Given the description of an element on the screen output the (x, y) to click on. 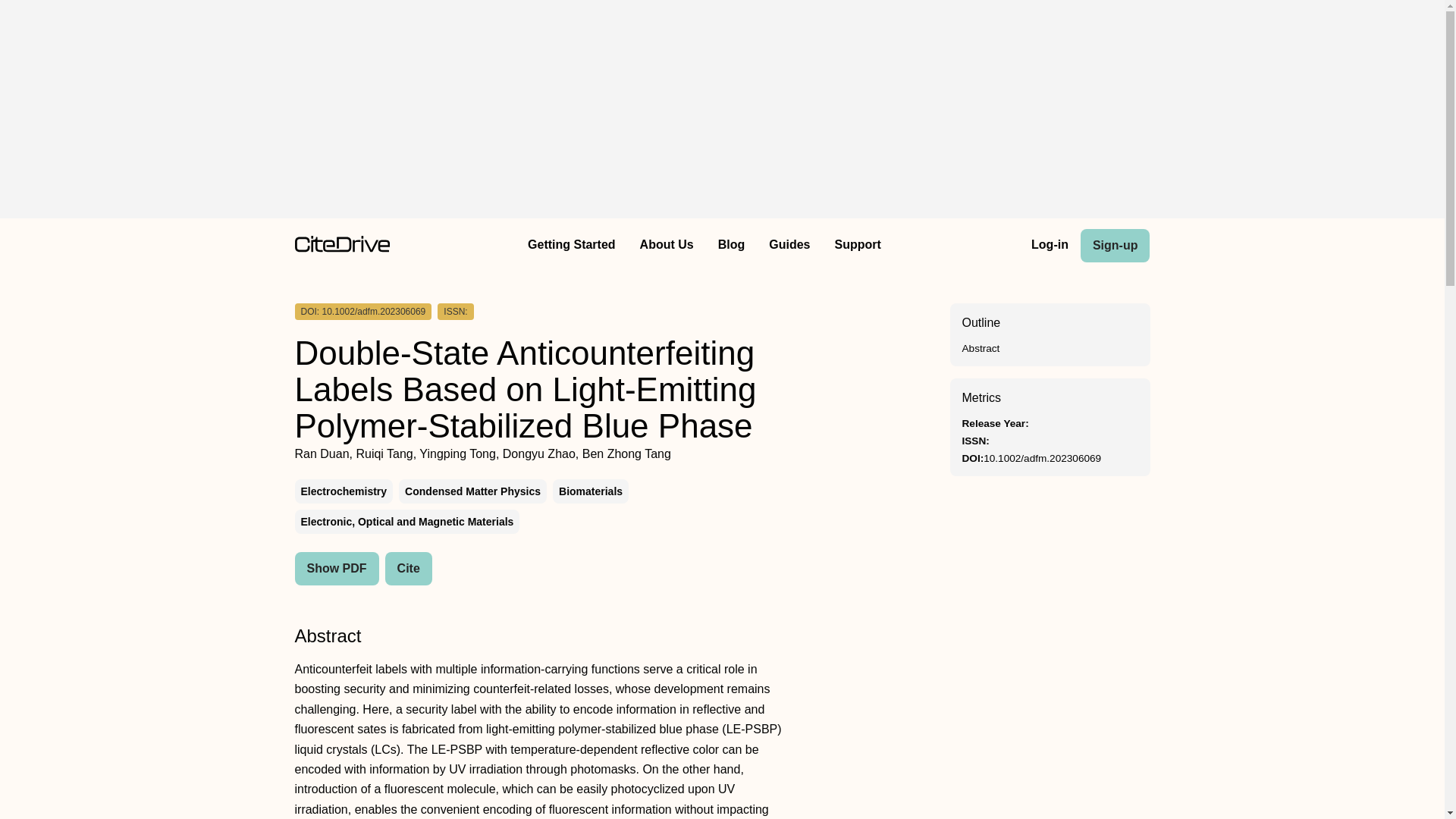
Show PDF (336, 568)
Support (857, 245)
Cite (408, 568)
About Us (666, 245)
Abstract (979, 348)
Log-in (1049, 245)
Sign-up (1115, 245)
Getting Started (571, 245)
Blog (731, 245)
